Given the description of an element on the screen output the (x, y) to click on. 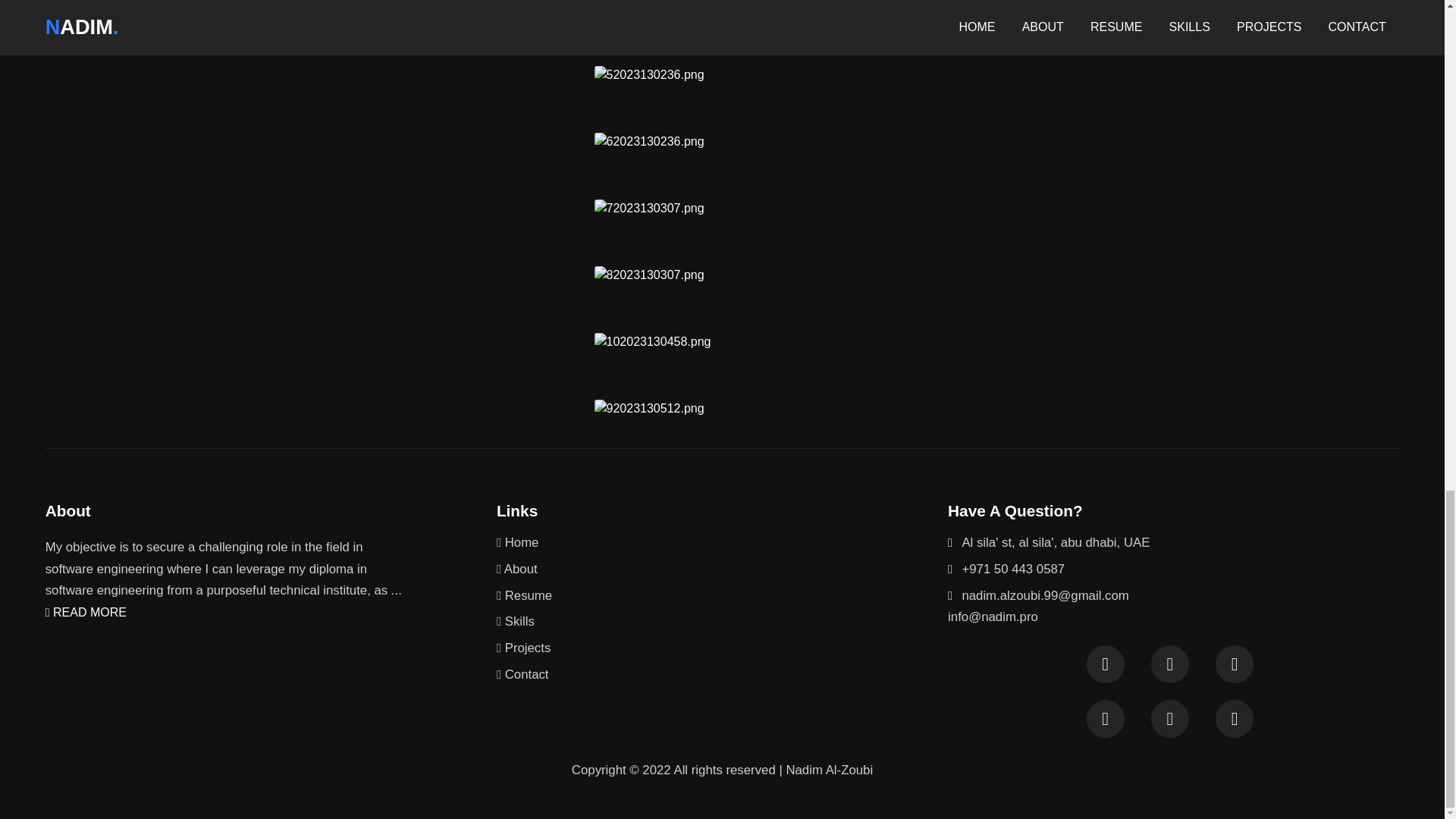
Projects (721, 648)
Contact (721, 674)
READ MORE (85, 612)
Home (721, 542)
About (721, 569)
Skills (721, 622)
Resume (721, 595)
